Given the description of an element on the screen output the (x, y) to click on. 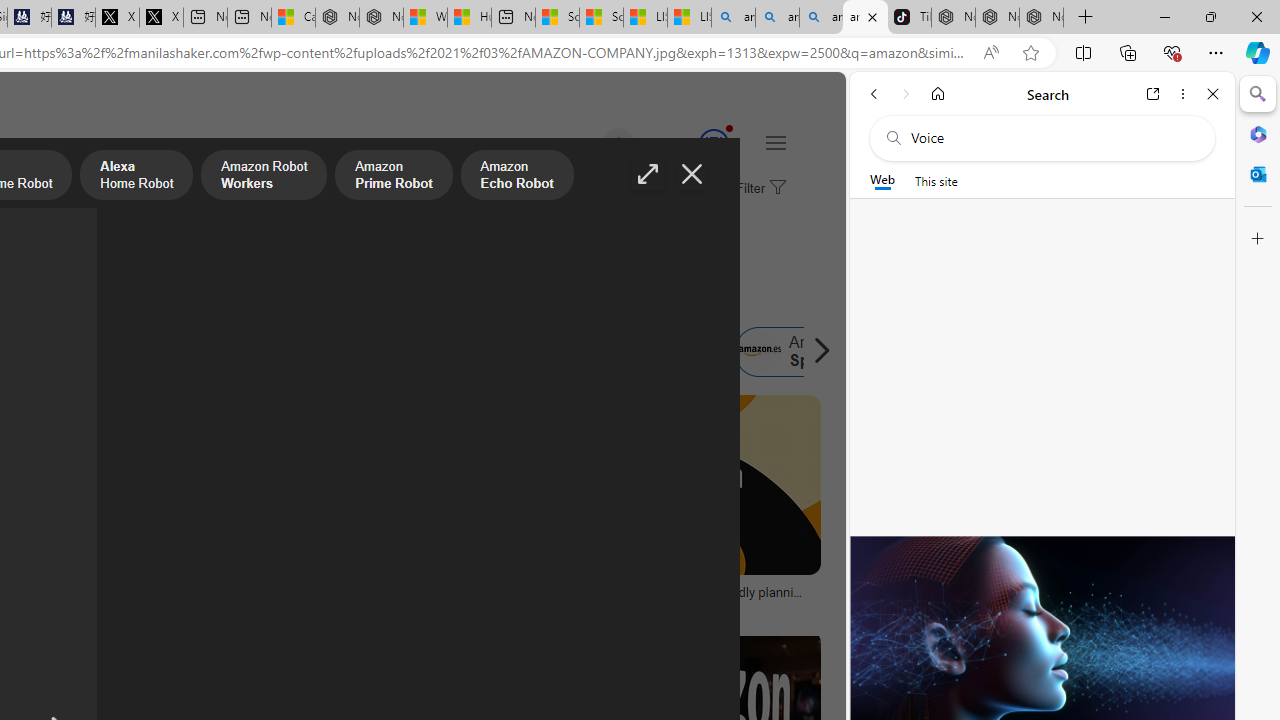
Nordace - Best Sellers (953, 17)
Scroll right (816, 351)
Close image (692, 173)
Amazon Spain (759, 351)
Class: medal-circled (713, 143)
Amazon Shoes (659, 351)
Amazon Shoes (618, 351)
Amazon Prime Membership (44, 351)
Nordace - Siena Pro 15 Essential Set (1041, 17)
